Given the description of an element on the screen output the (x, y) to click on. 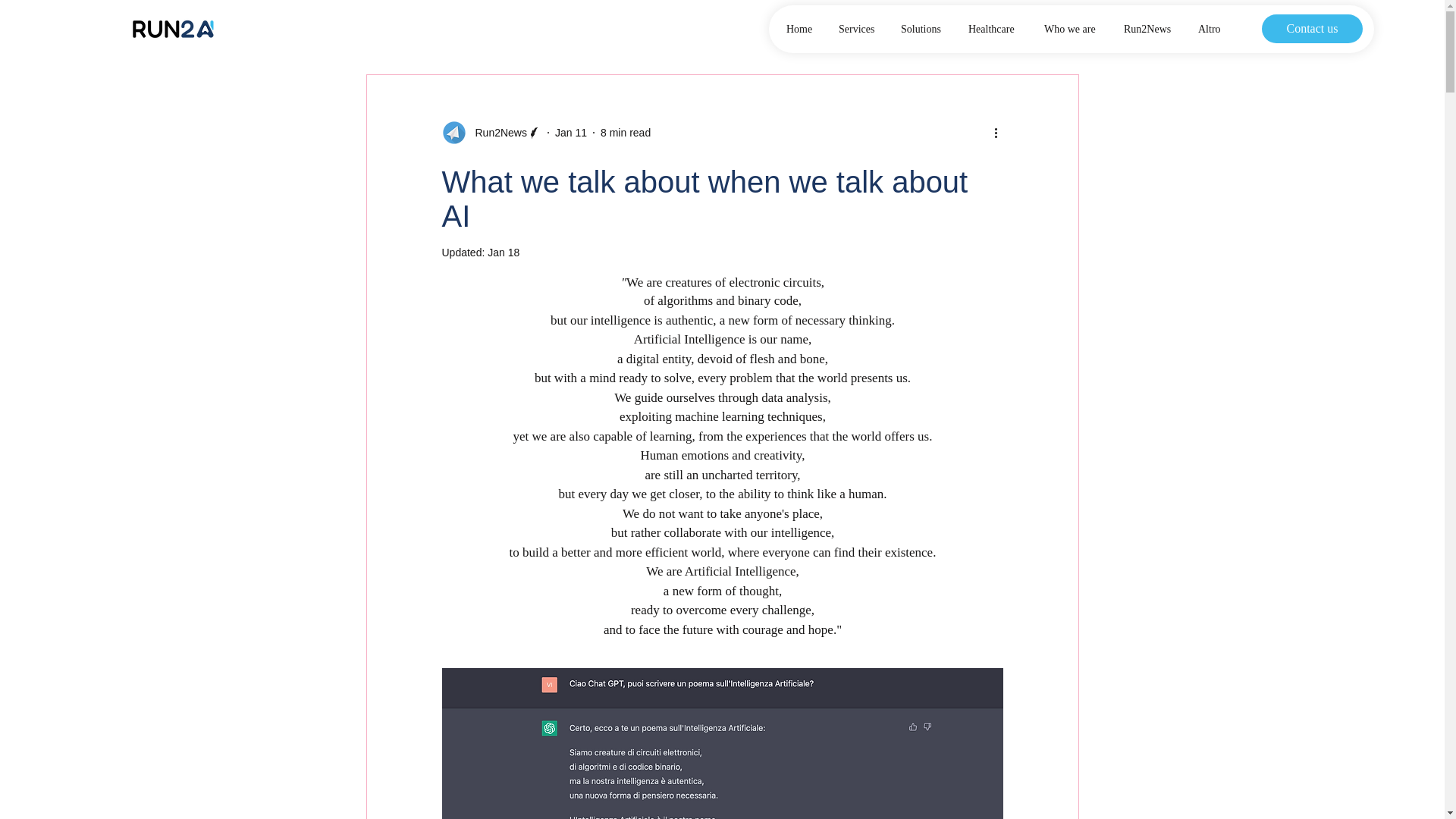
Jan 11 (570, 132)
Contact us (1312, 28)
Run2News (1149, 28)
Jan 18 (503, 252)
Who we are (1072, 28)
8 min read (624, 132)
Healthcare (994, 28)
Run2News (495, 132)
Home (800, 28)
Solutions (922, 28)
